Given the description of an element on the screen output the (x, y) to click on. 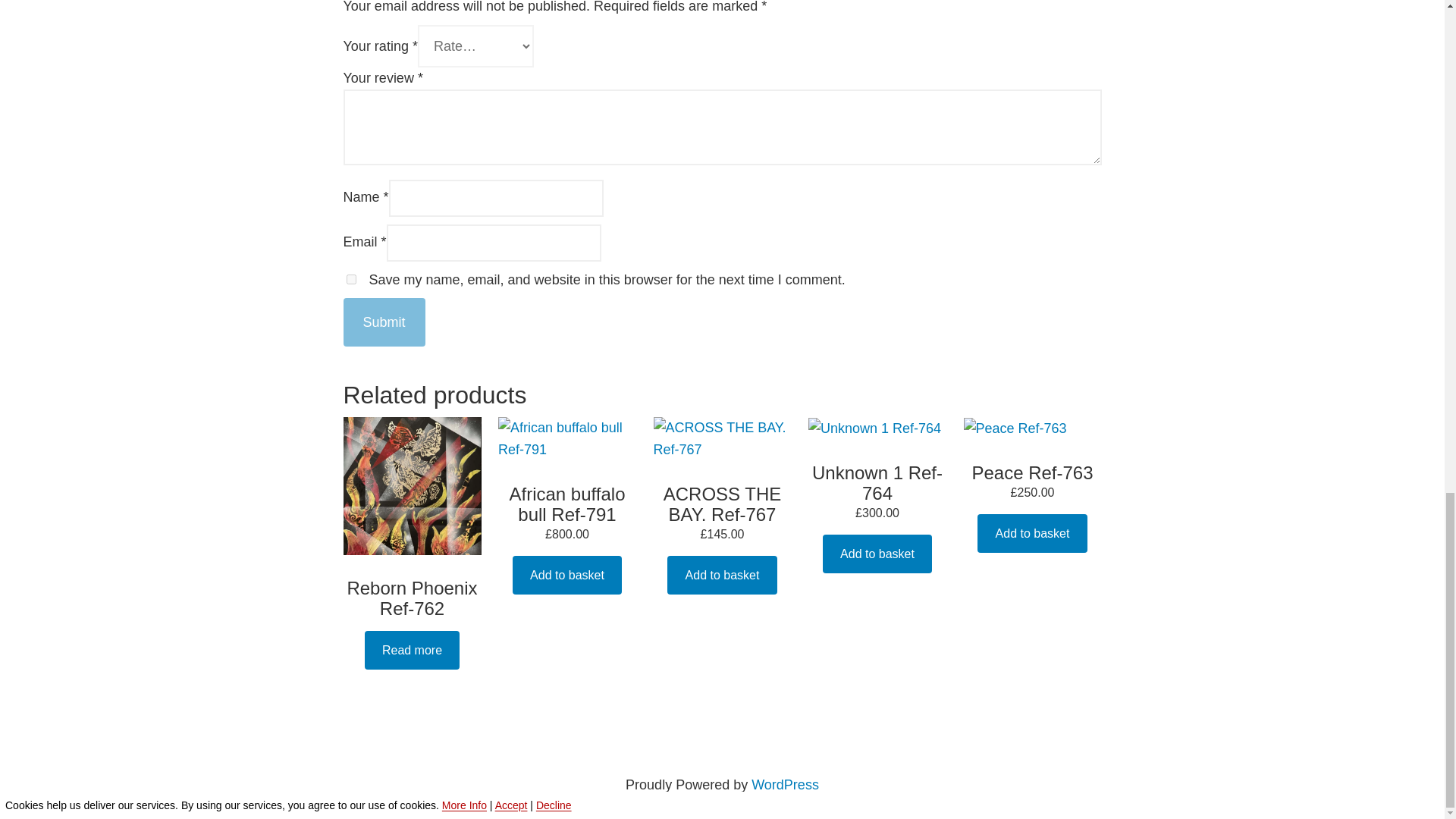
Add to basket (1031, 533)
yes (350, 279)
Submit (383, 322)
Read more (412, 649)
Submit (383, 322)
Add to basket (721, 575)
Add to basket (876, 553)
Add to basket (566, 575)
